Given the description of an element on the screen output the (x, y) to click on. 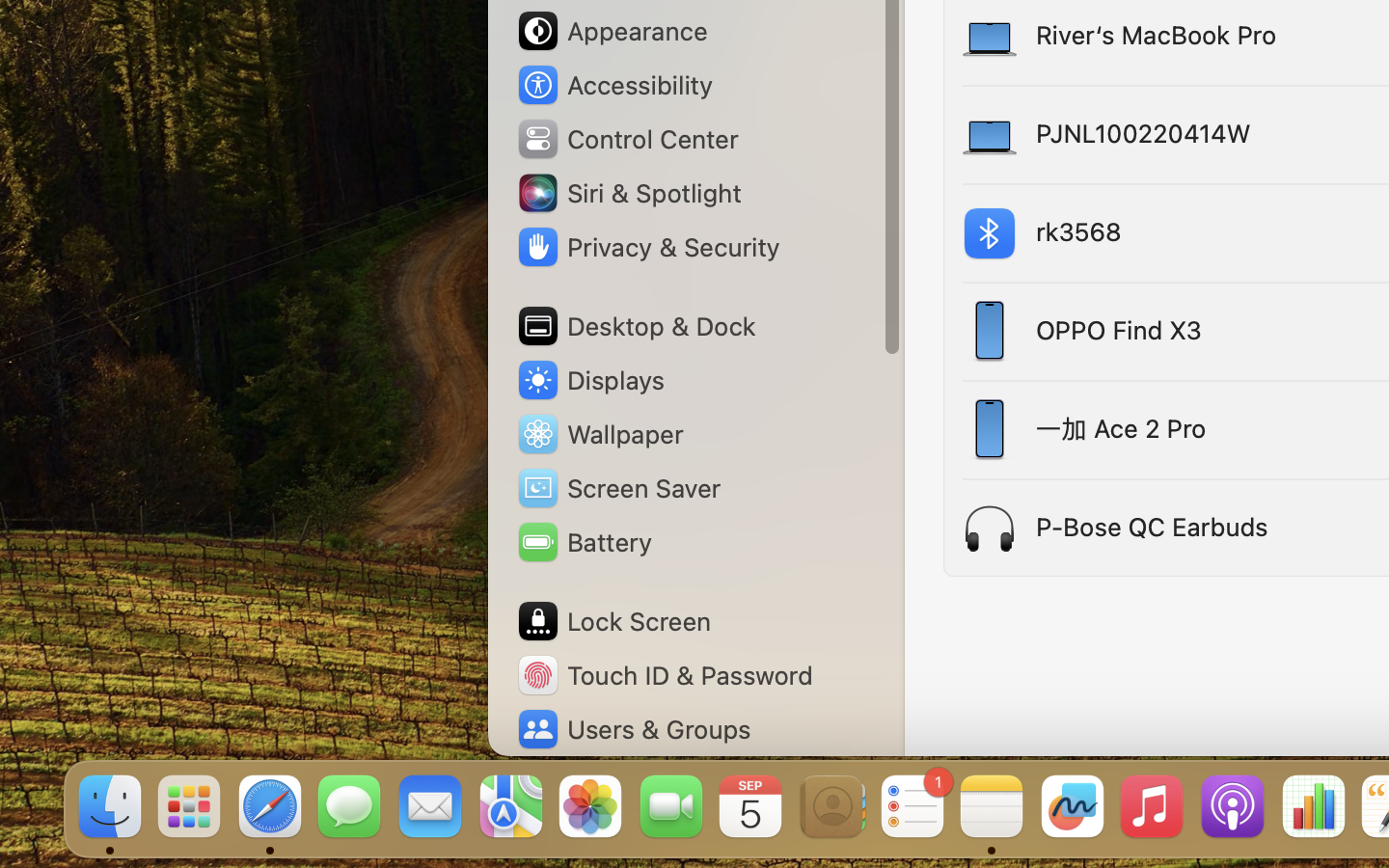
Desktop & Dock Element type: AXStaticText (635, 325)
Screen Saver Element type: AXStaticText (618, 487)
Control Center Element type: AXStaticText (626, 138)
Battery Element type: AXStaticText (583, 541)
Privacy & Security Element type: AXStaticText (647, 246)
